Given the description of an element on the screen output the (x, y) to click on. 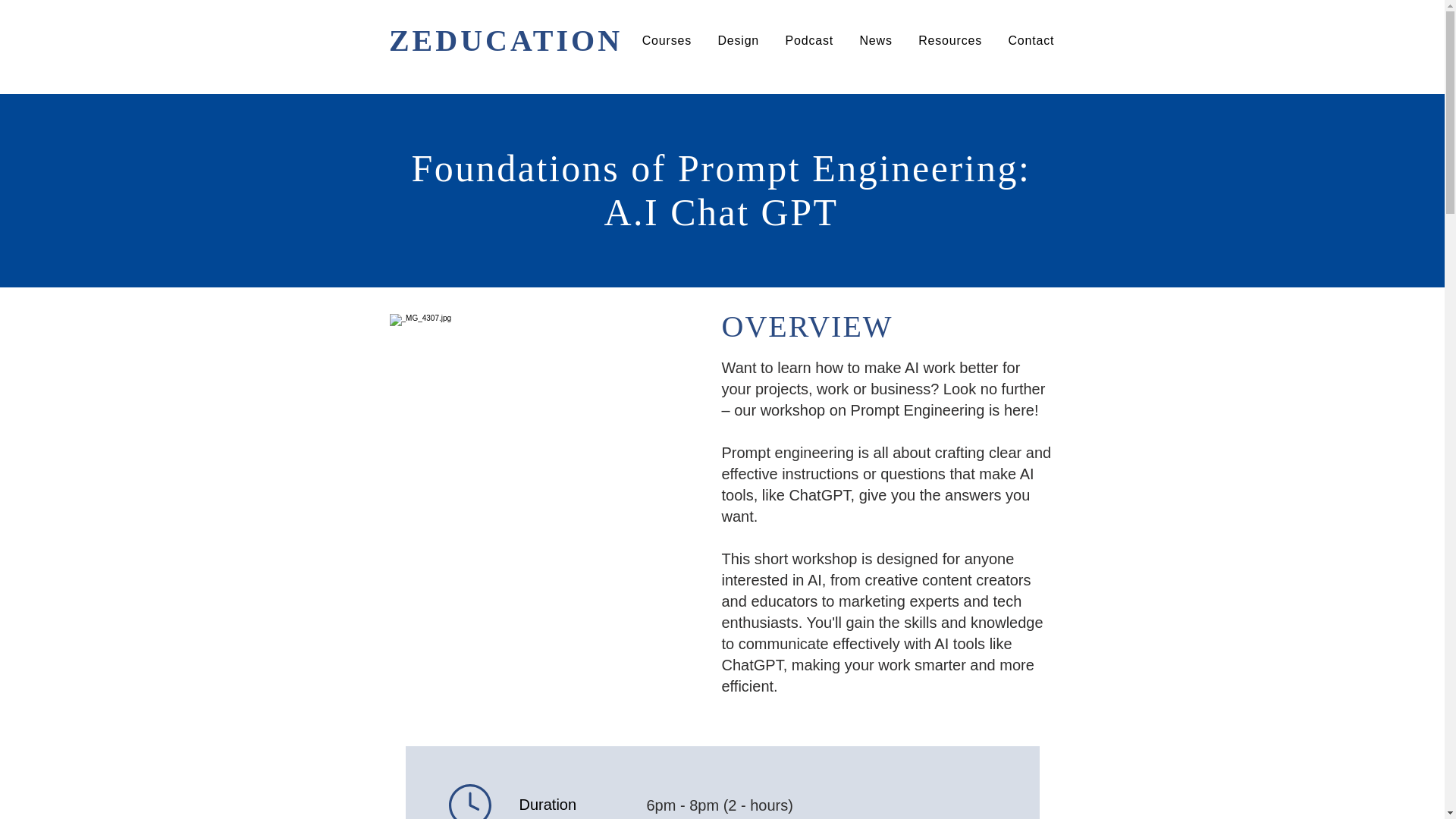
News (875, 40)
Resources (949, 40)
Podcast (808, 40)
ZEDUCATION (505, 40)
Design (737, 40)
Contact (1030, 40)
Courses (666, 40)
